Given the description of an element on the screen output the (x, y) to click on. 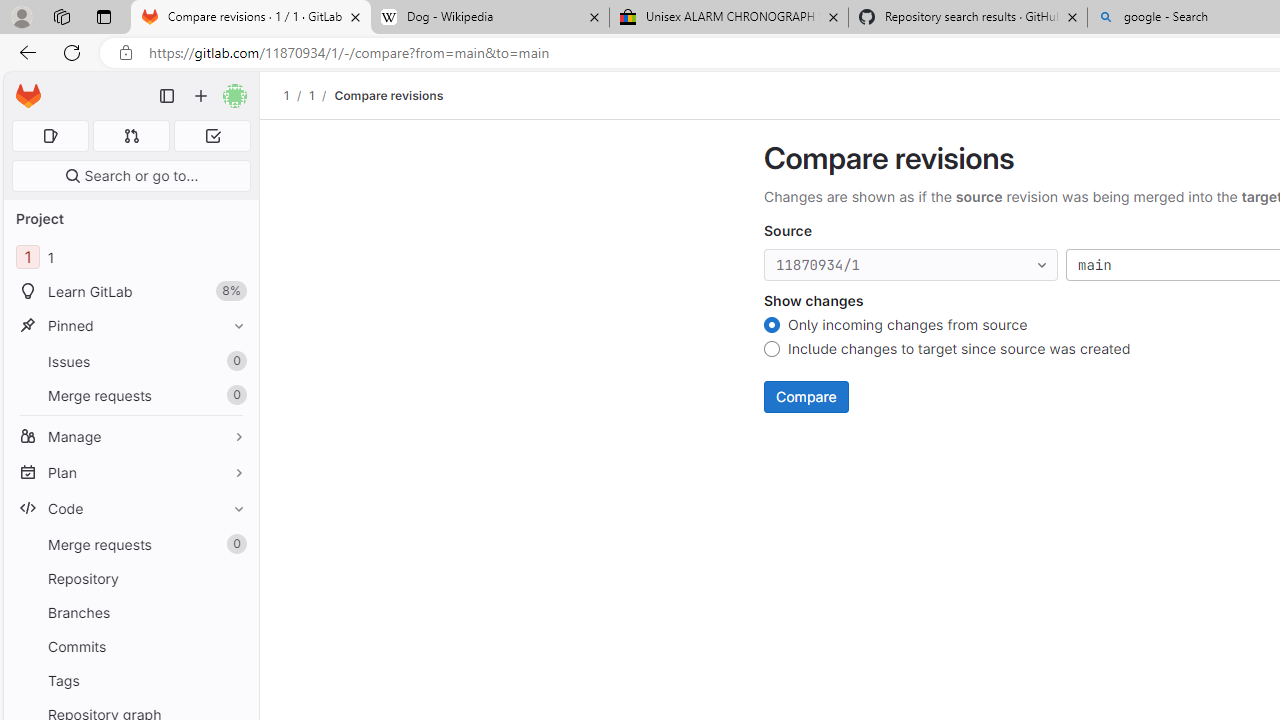
Commits (130, 646)
Dog - Wikipedia (490, 17)
Branches (130, 612)
Merge requests 0 (131, 136)
11870934/1 (911, 265)
Commits (130, 646)
Tags (130, 679)
Issues0 (130, 361)
Plan (130, 471)
Merge requests 0 (130, 543)
Create new... (201, 96)
